Given the description of an element on the screen output the (x, y) to click on. 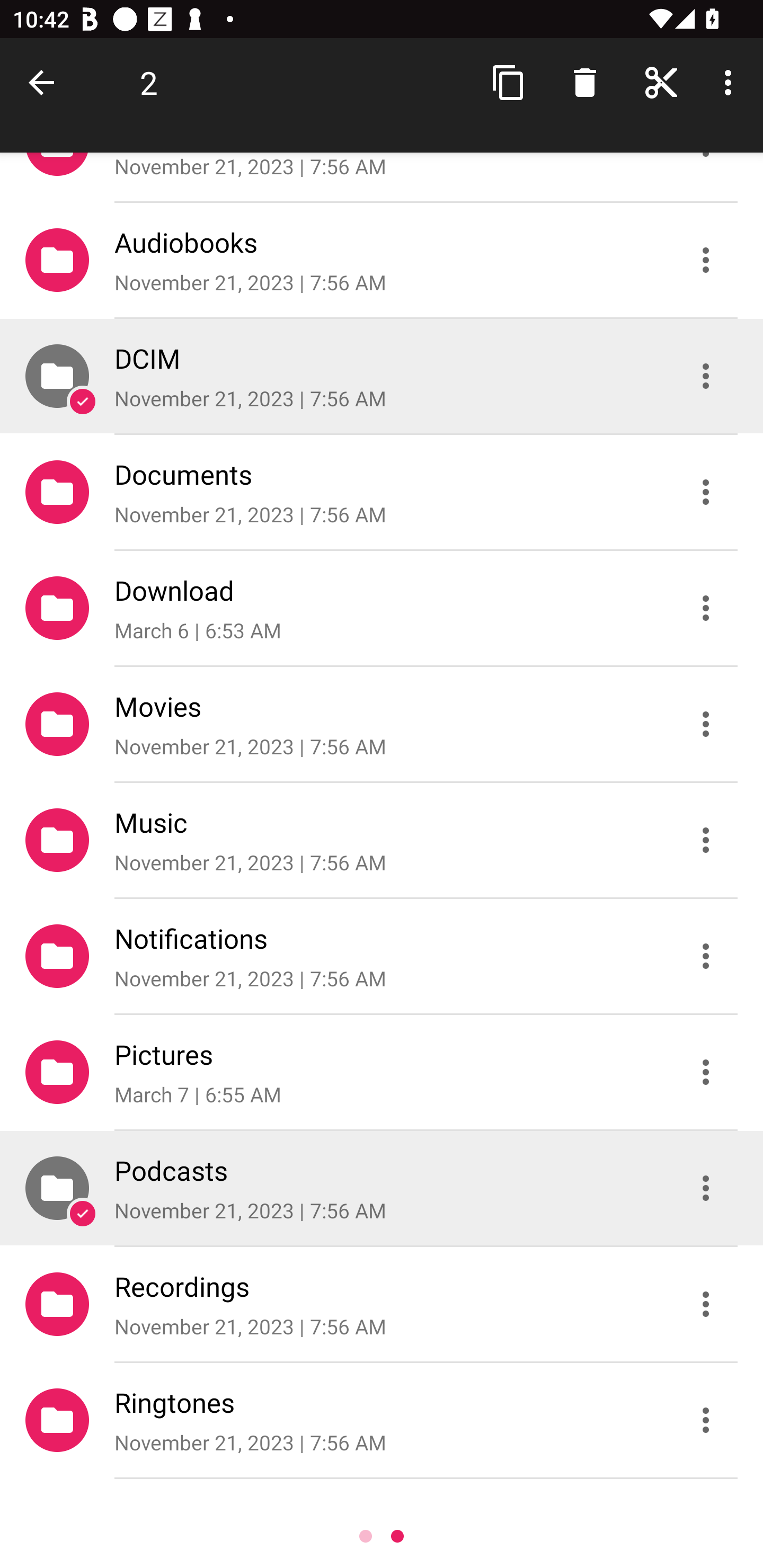
2 (148, 82)
Done (44, 81)
Copy (508, 81)
Delete (585, 81)
Cut (661, 81)
More options (731, 81)
Audiobooks November 21, 2023 | 7:56 AM (381, 259)
DCIM November 21, 2023 | 7:56 AM (381, 375)
Documents November 21, 2023 | 7:56 AM (381, 491)
Download March 6 | 6:53 AM (381, 607)
Movies November 21, 2023 | 7:56 AM (381, 723)
Music November 21, 2023 | 7:56 AM (381, 839)
Notifications November 21, 2023 | 7:56 AM (381, 955)
Pictures March 7 | 6:55 AM (381, 1071)
Podcasts November 21, 2023 | 7:56 AM (381, 1187)
Recordings November 21, 2023 | 7:56 AM (381, 1303)
Ringtones November 21, 2023 | 7:56 AM (381, 1419)
